Given the description of an element on the screen output the (x, y) to click on. 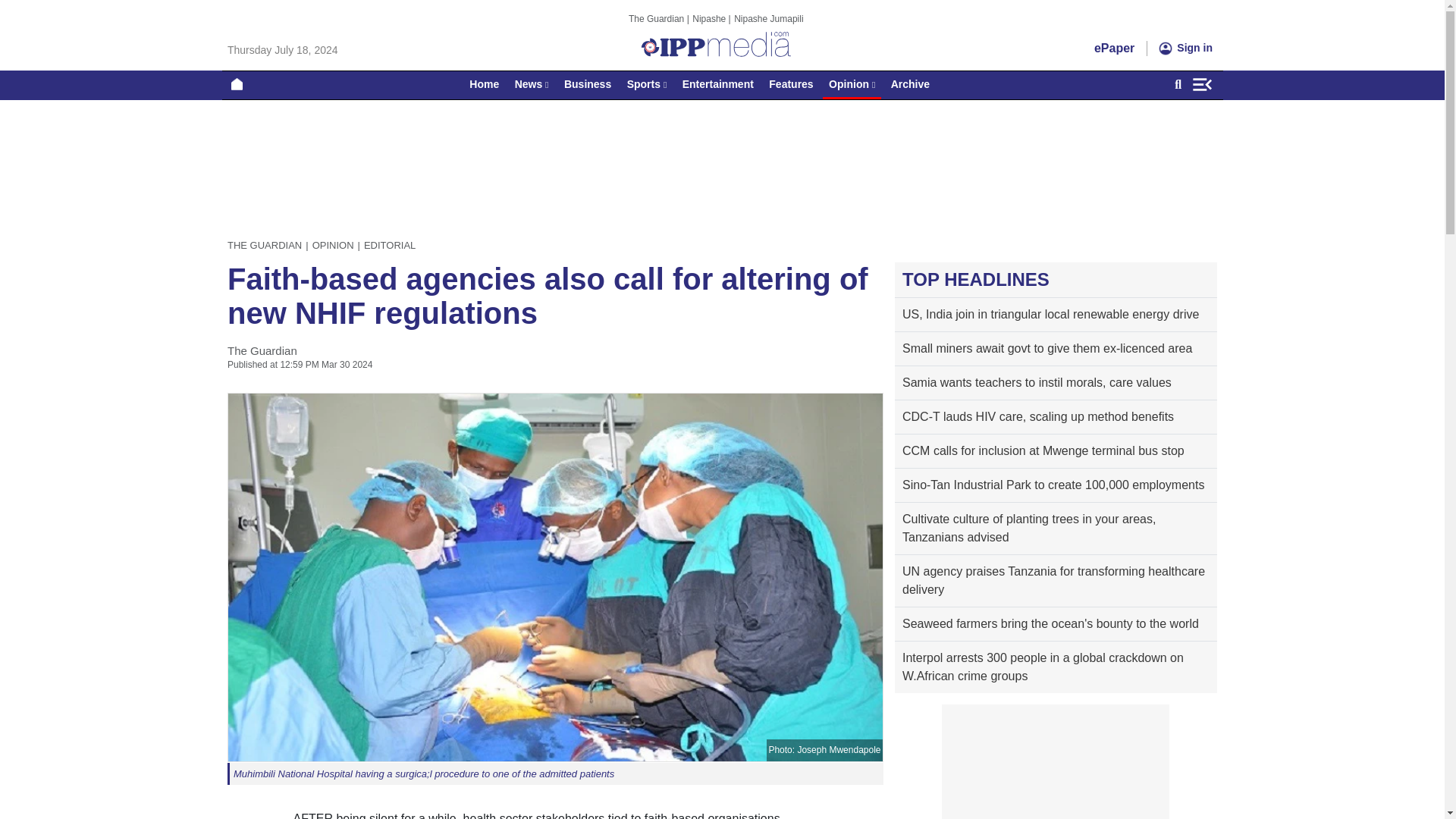
ePaper (1114, 48)
Nipashe Jumapili (768, 18)
Business (587, 84)
Sign in (1185, 47)
Sports (646, 84)
Opinion (851, 84)
News (531, 84)
Archive (910, 84)
Entertainment (718, 84)
Home (484, 84)
Advertisement (1055, 761)
Features (790, 84)
